Given the description of an element on the screen output the (x, y) to click on. 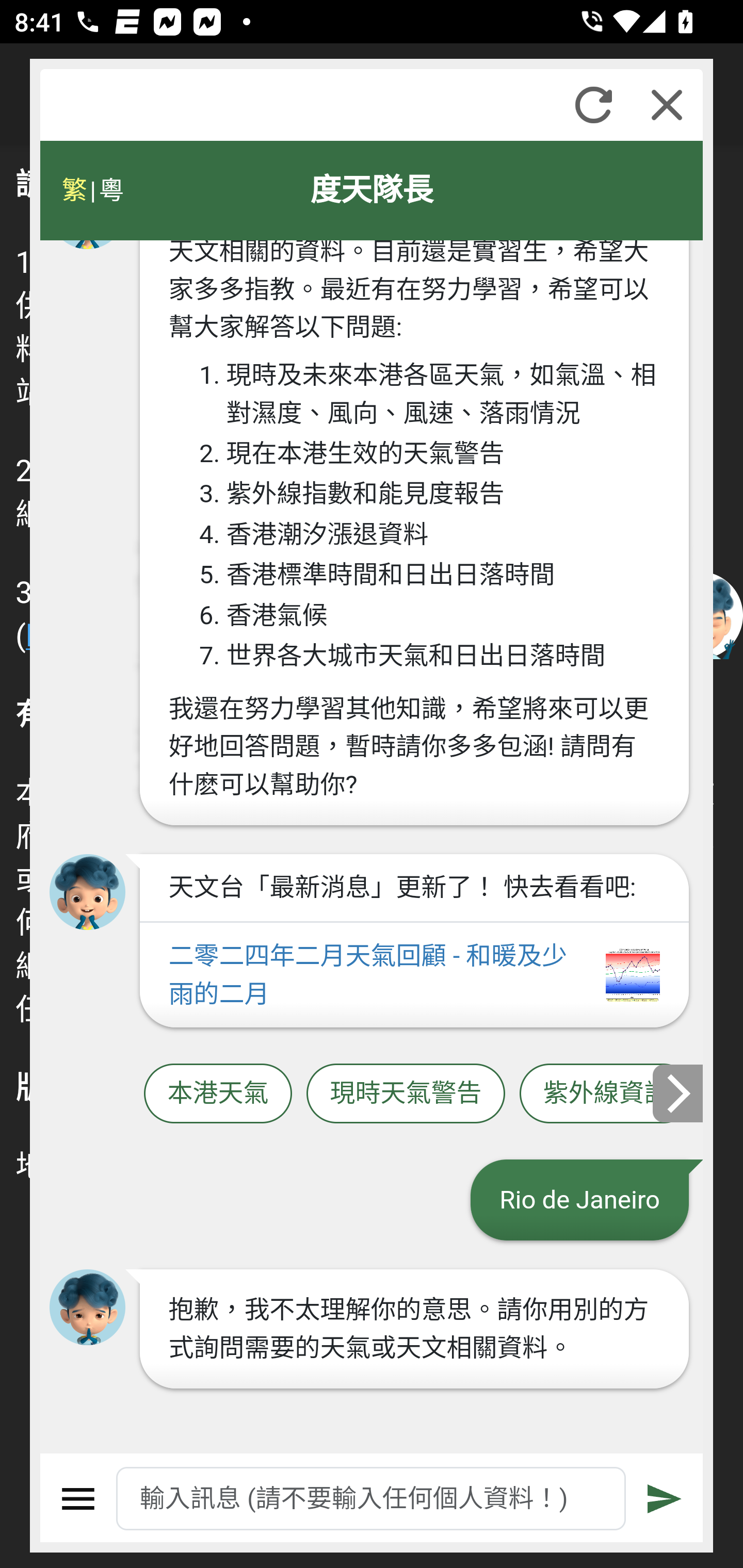
重新整理 (593, 104)
關閉 (666, 104)
繁 (73, 190)
粵 (110, 190)
二零二四年二月天氣回顧 - 和暖及少雨的二月 (413, 974)
本港天氣 (217, 1093)
現時天氣警告 (405, 1093)
紫外線資訊 (605, 1093)
下一張 (678, 1092)
選單 (78, 1498)
遞交 (665, 1498)
